Given the description of an element on the screen output the (x, y) to click on. 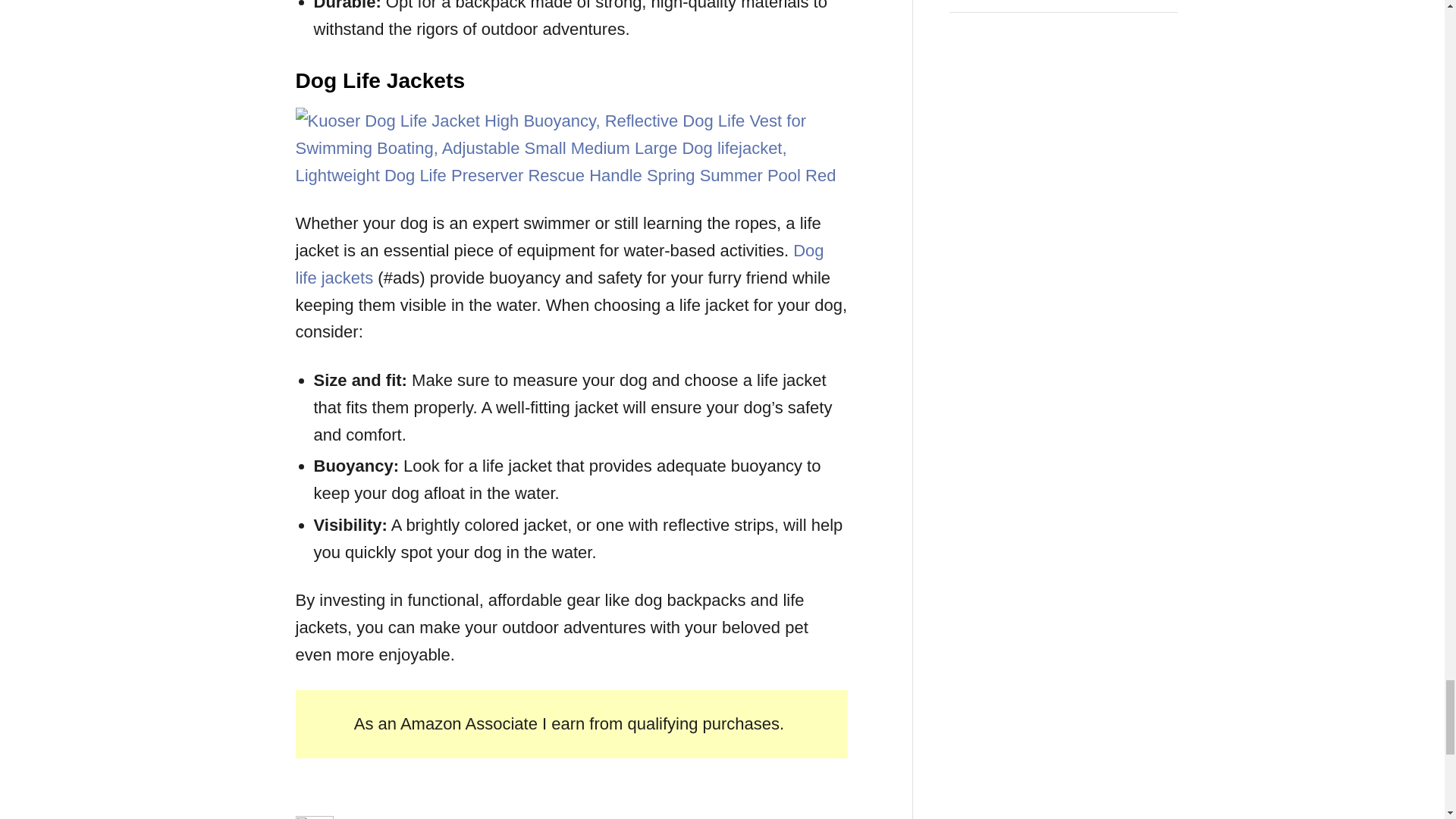
Dog life jackets (559, 263)
